Given the description of an element on the screen output the (x, y) to click on. 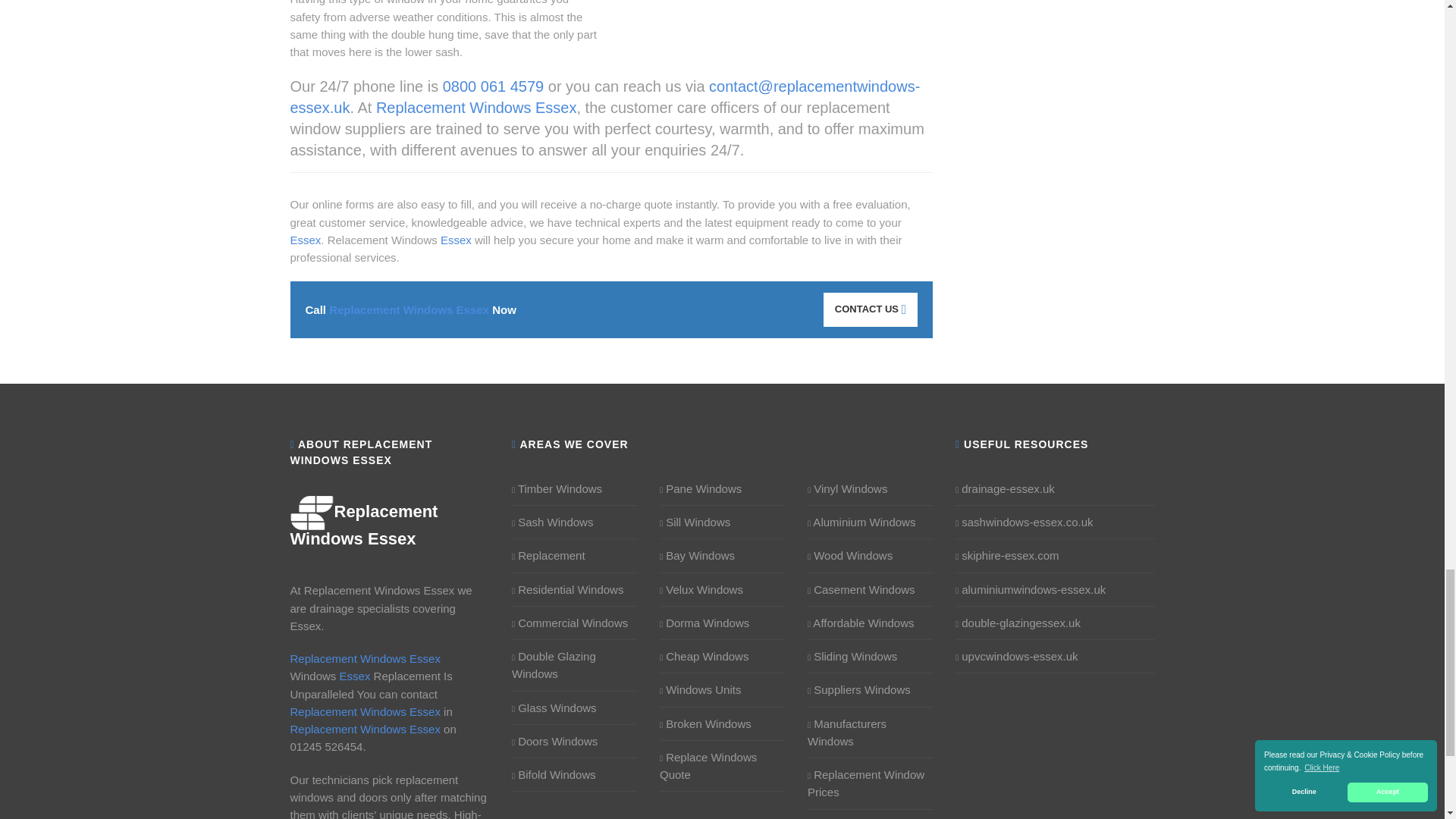
replacementwindows-essex.uk (363, 524)
